Given the description of an element on the screen output the (x, y) to click on. 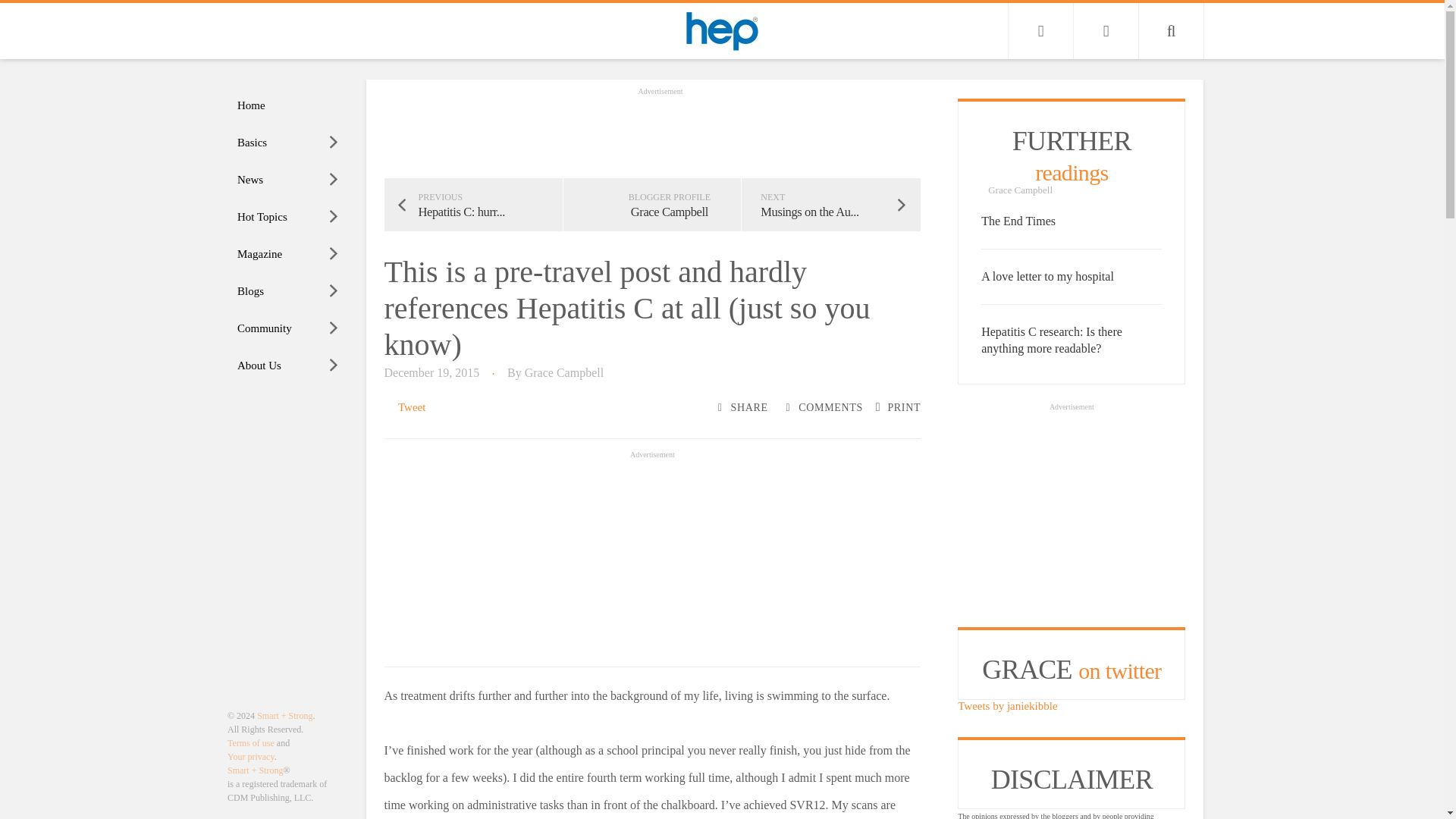
3rd party ad content (1071, 509)
Home (288, 105)
Hot Topics (288, 217)
Basics (288, 142)
News (288, 180)
3rd party ad content (660, 132)
3rd party ad content (651, 556)
